Given the description of an element on the screen output the (x, y) to click on. 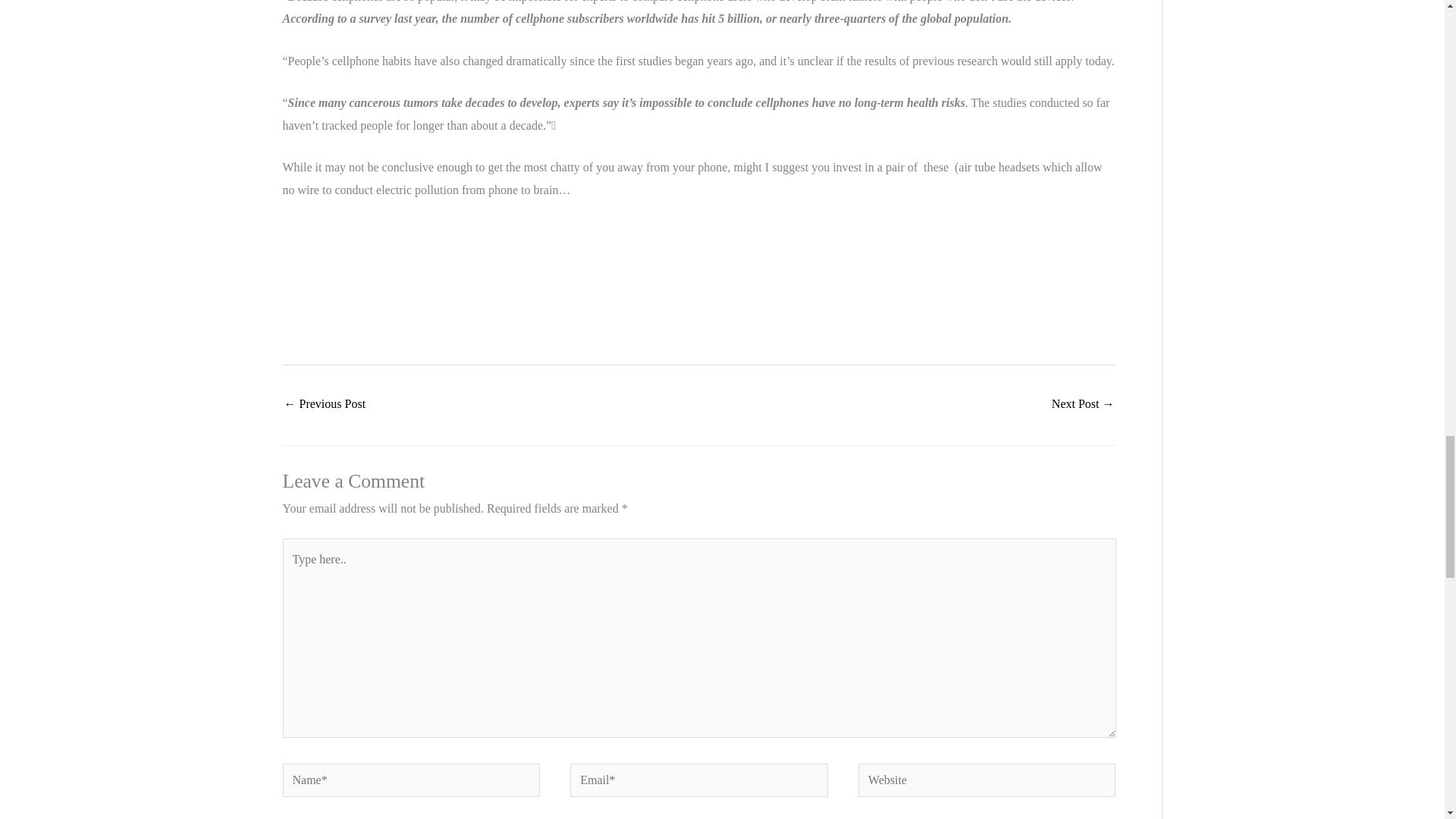
V Poles - coming to a neighborhood near you soon. (1083, 405)
